Given the description of an element on the screen output the (x, y) to click on. 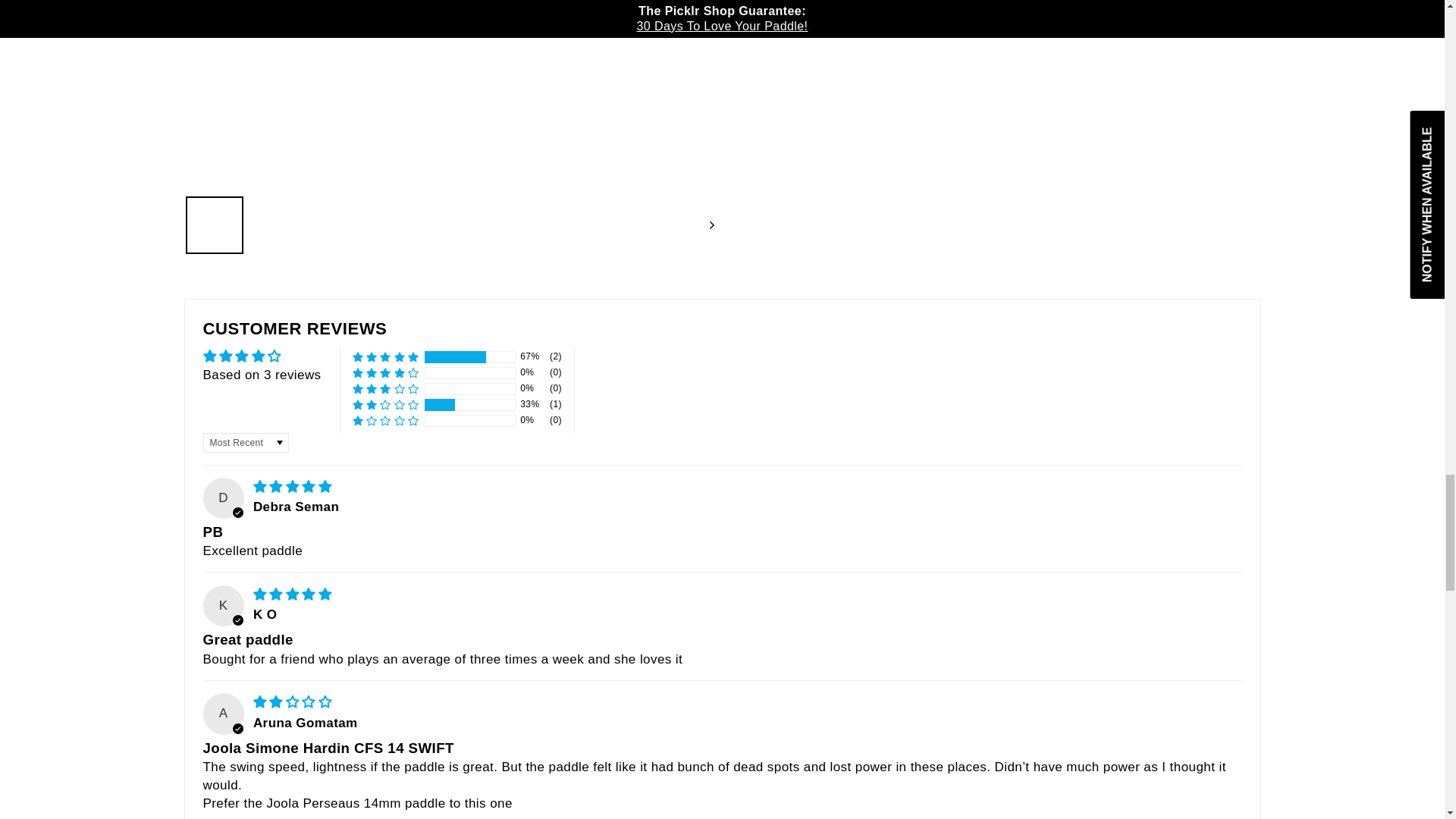
YouTube video player (976, 136)
